Given the description of an element on the screen output the (x, y) to click on. 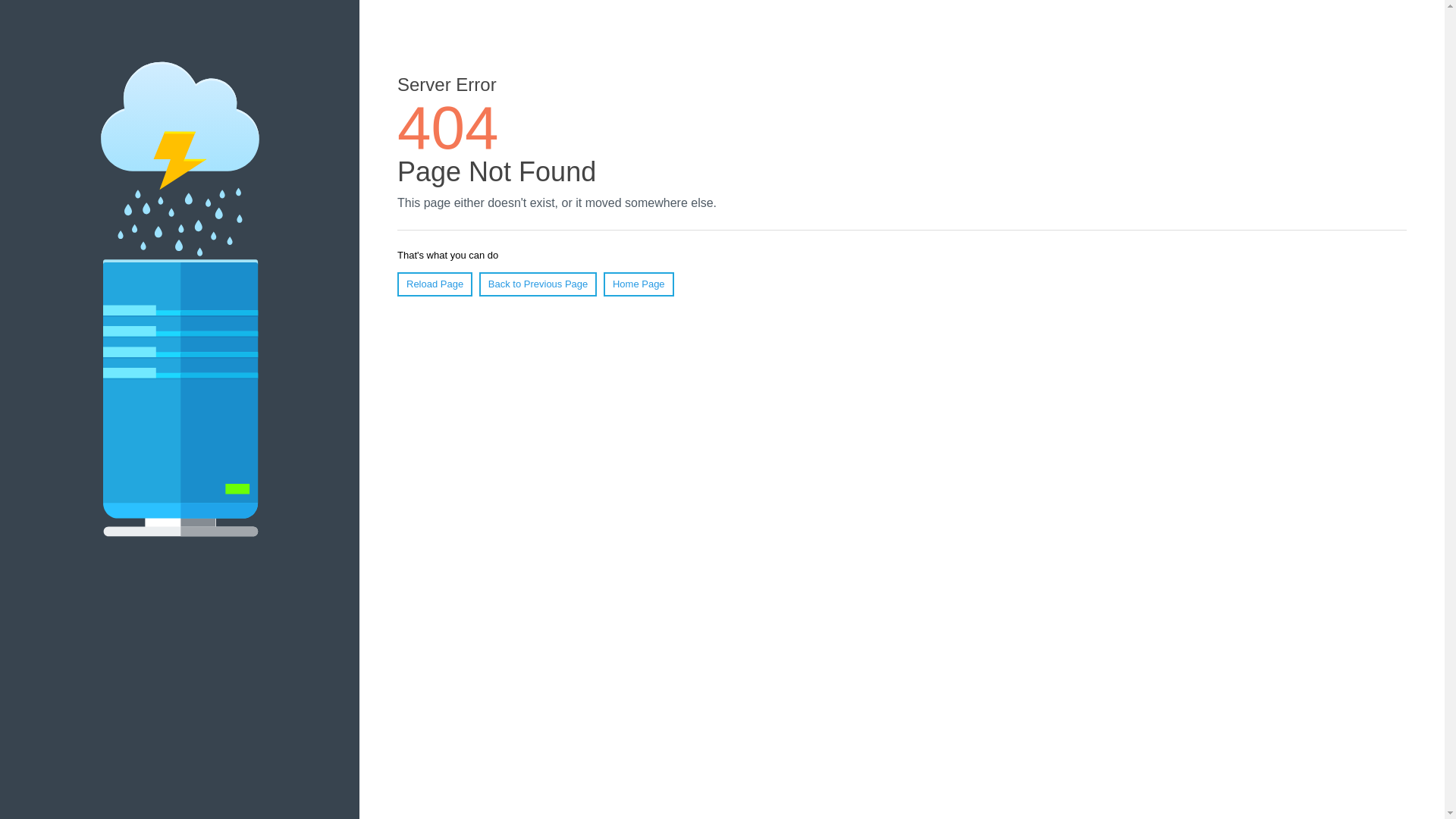
Home Page Element type: text (638, 284)
Back to Previous Page Element type: text (538, 284)
Reload Page Element type: text (434, 284)
